Given the description of an element on the screen output the (x, y) to click on. 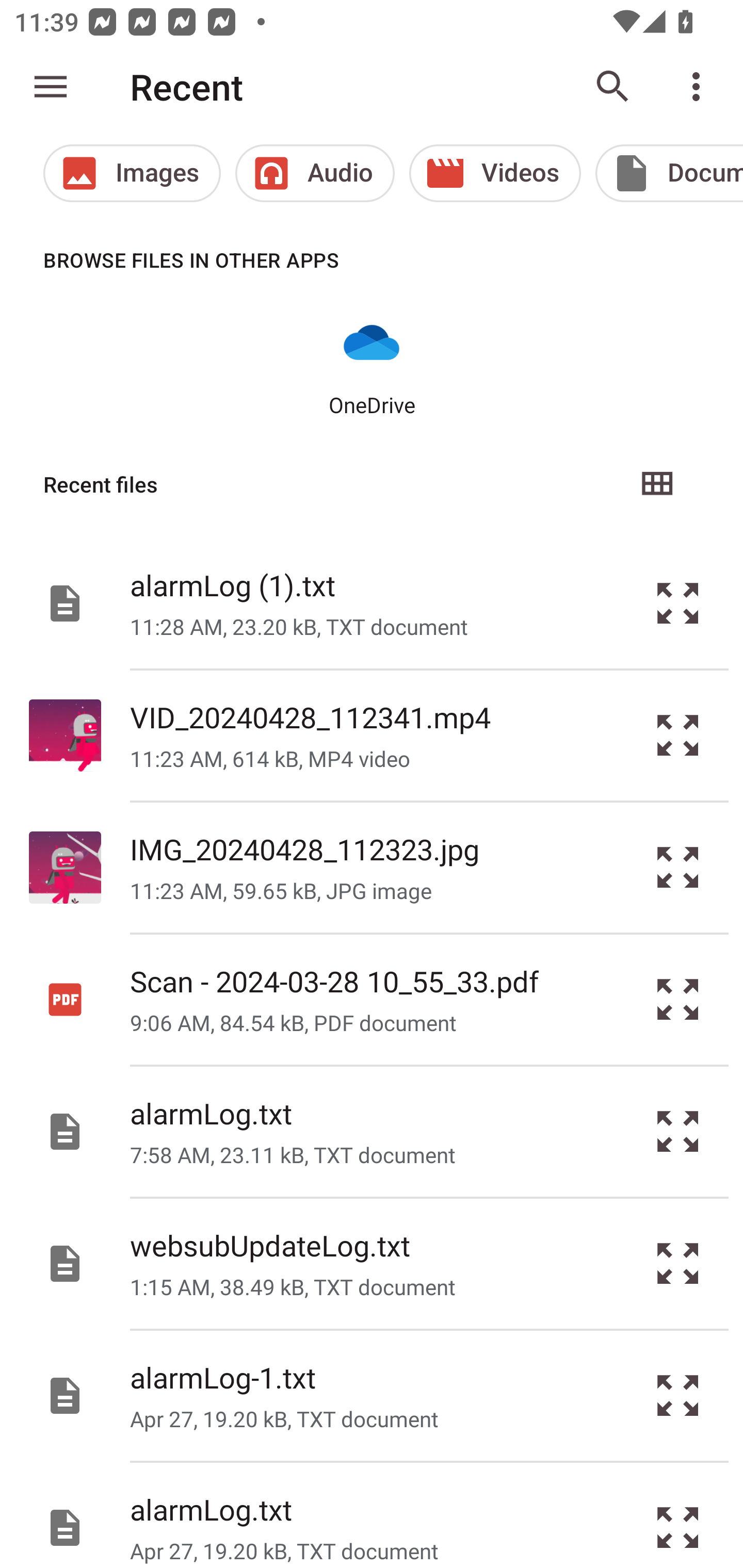
Show roots (50, 86)
Search (612, 86)
More options (699, 86)
Images (131, 173)
Audio (314, 173)
Videos (495, 173)
Documents (669, 173)
OneDrive (371, 365)
Grid view (655, 484)
Preview the file alarmLog (1).txt (677, 602)
Preview the file VID_20240428_112341.mp4 (677, 736)
Preview the file IMG_20240428_112323.jpg (677, 867)
Preview the file Scan - 2024-03-28 10_55_33.pdf (677, 999)
Preview the file alarmLog.txt (677, 1131)
Preview the file websubUpdateLog.txt (677, 1262)
Preview the file alarmLog-1.txt (677, 1396)
Preview the file alarmLog.txt (677, 1515)
